Given the description of an element on the screen output the (x, y) to click on. 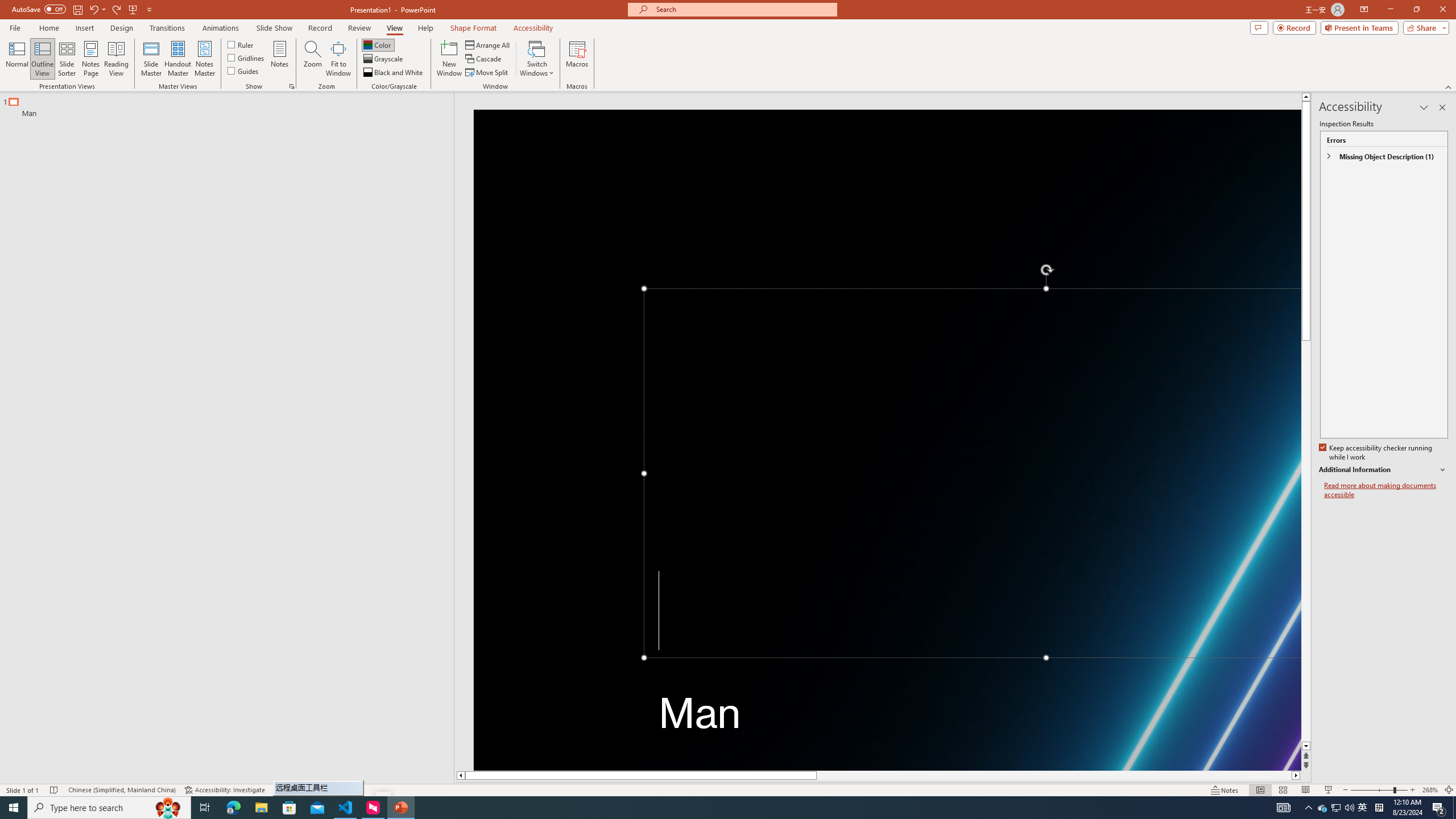
Guides (243, 69)
Notes Page (90, 58)
Decorative Locked (887, 439)
Fit to Window (338, 58)
